Given the description of an element on the screen output the (x, y) to click on. 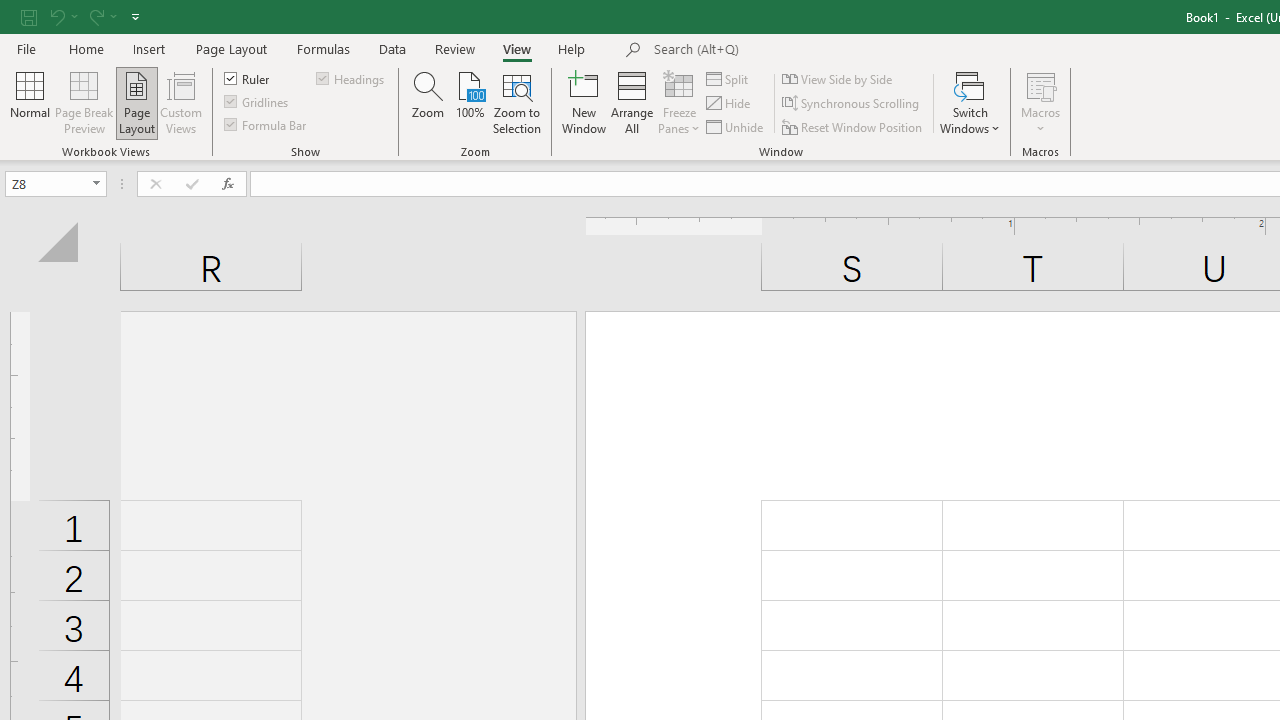
Ruler (248, 78)
Headings (351, 78)
Switch Windows (970, 102)
View Macros (1040, 84)
Reset Window Position (854, 126)
